Given the description of an element on the screen output the (x, y) to click on. 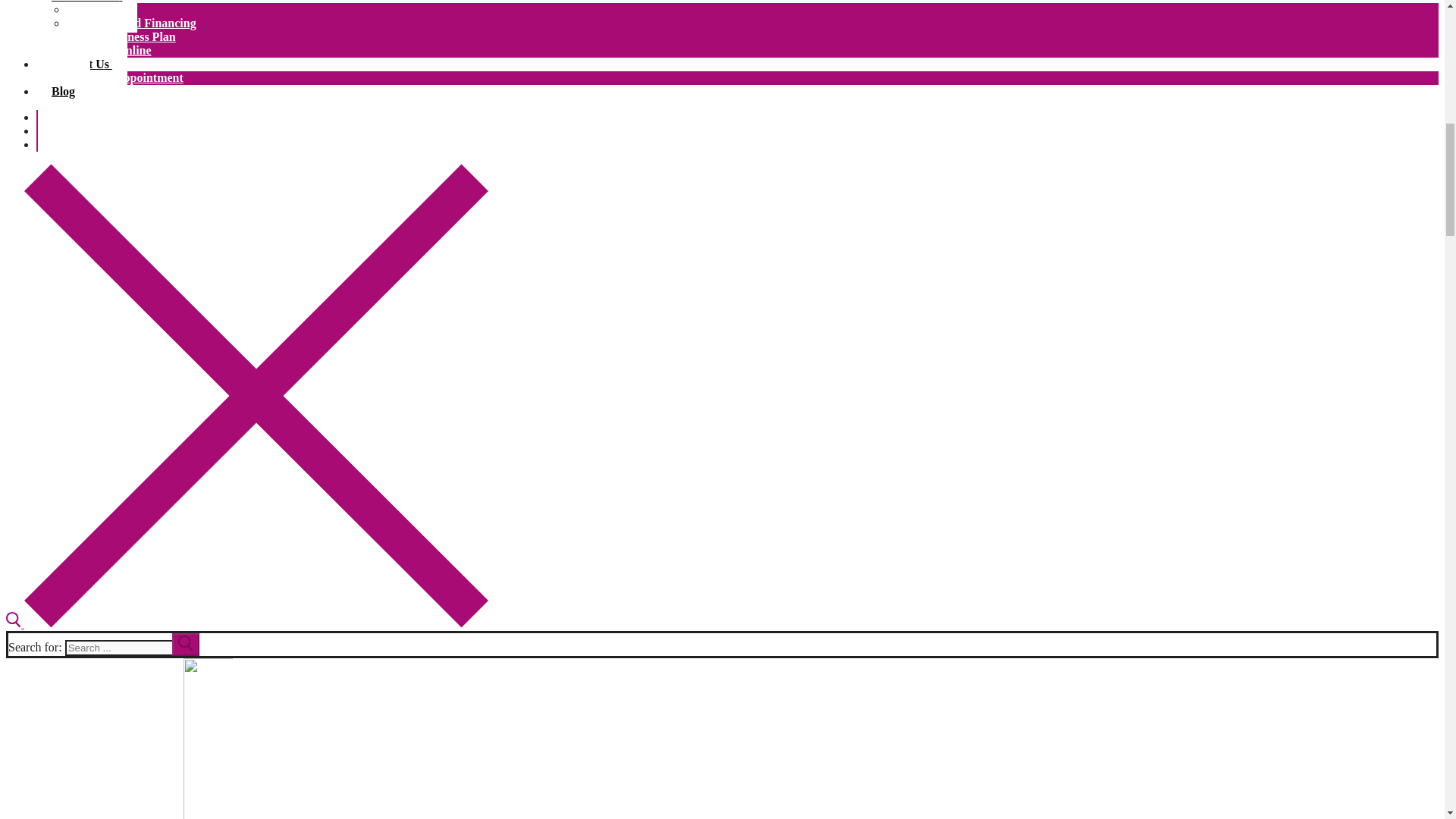
Dental Wellness Plan (121, 36)
Schedule Online (108, 50)
Make an Appointment (124, 77)
Registration (98, 9)
New Patients  (86, 16)
Insurance and Financing (131, 22)
Search for: (132, 647)
Contact Us  (82, 63)
